Given the description of an element on the screen output the (x, y) to click on. 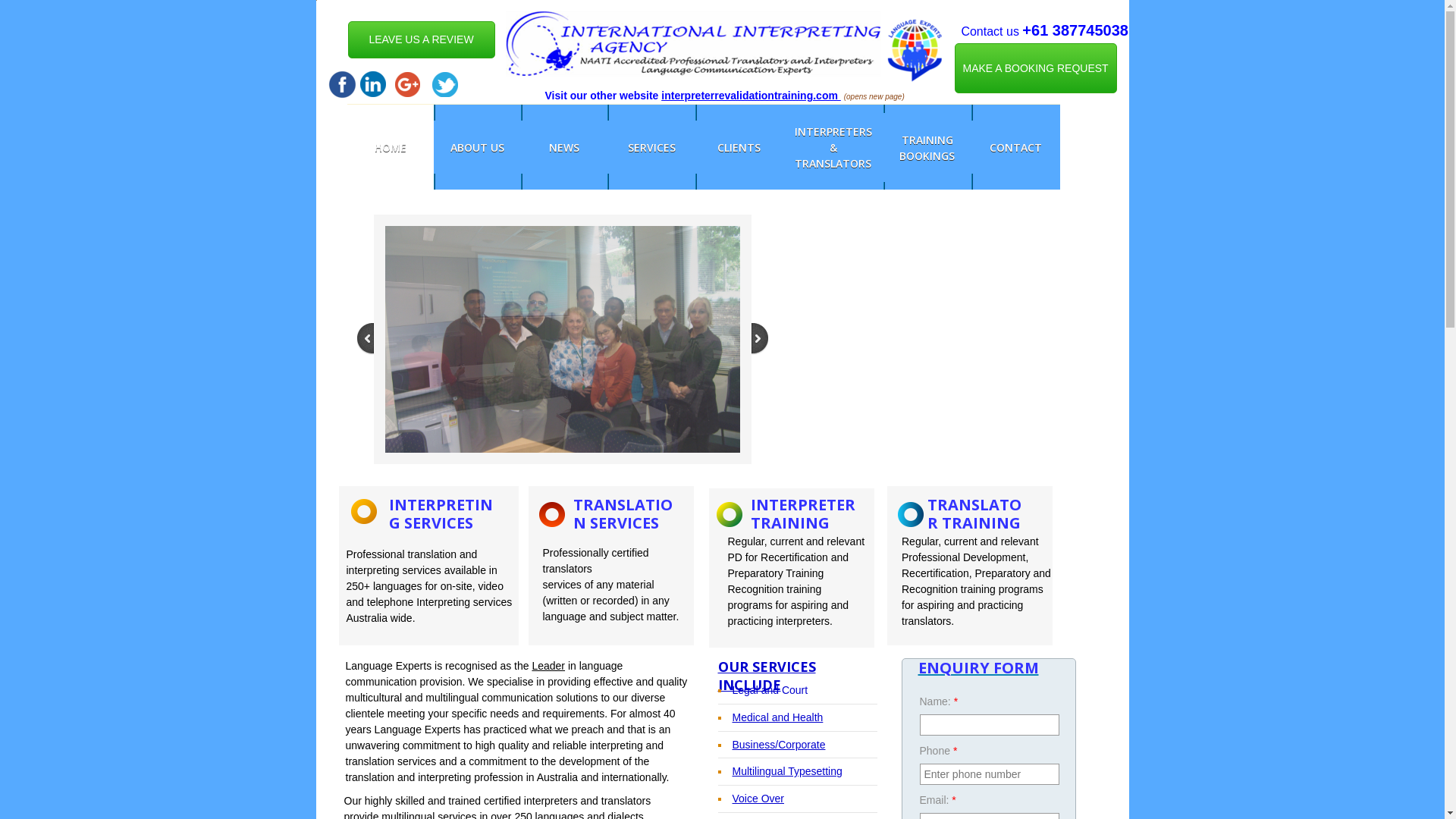
SERVICES Element type: text (651, 146)
MAKE A BOOKING REQUEST Element type: text (1034, 68)
Business/Corporate Element type: text (778, 744)
INTERPRETERS & TRANSLATORS Element type: text (833, 146)
CONTACT Element type: text (1015, 146)
Voice Over Element type: text (758, 798)
TRAINING BOOKINGS Element type: text (927, 146)
Multilingual Typesetting Element type: text (787, 771)
CLIENTS Element type: text (738, 146)
interpreterrevalidation Element type: text (717, 95)
NEWS Element type: text (563, 146)
LEAVE US A REVIEW Element type: text (420, 39)
Medical and Health Element type: text (777, 717)
HOME Element type: text (390, 146)
ABOUT US Element type: text (476, 146)
